Given the description of an element on the screen output the (x, y) to click on. 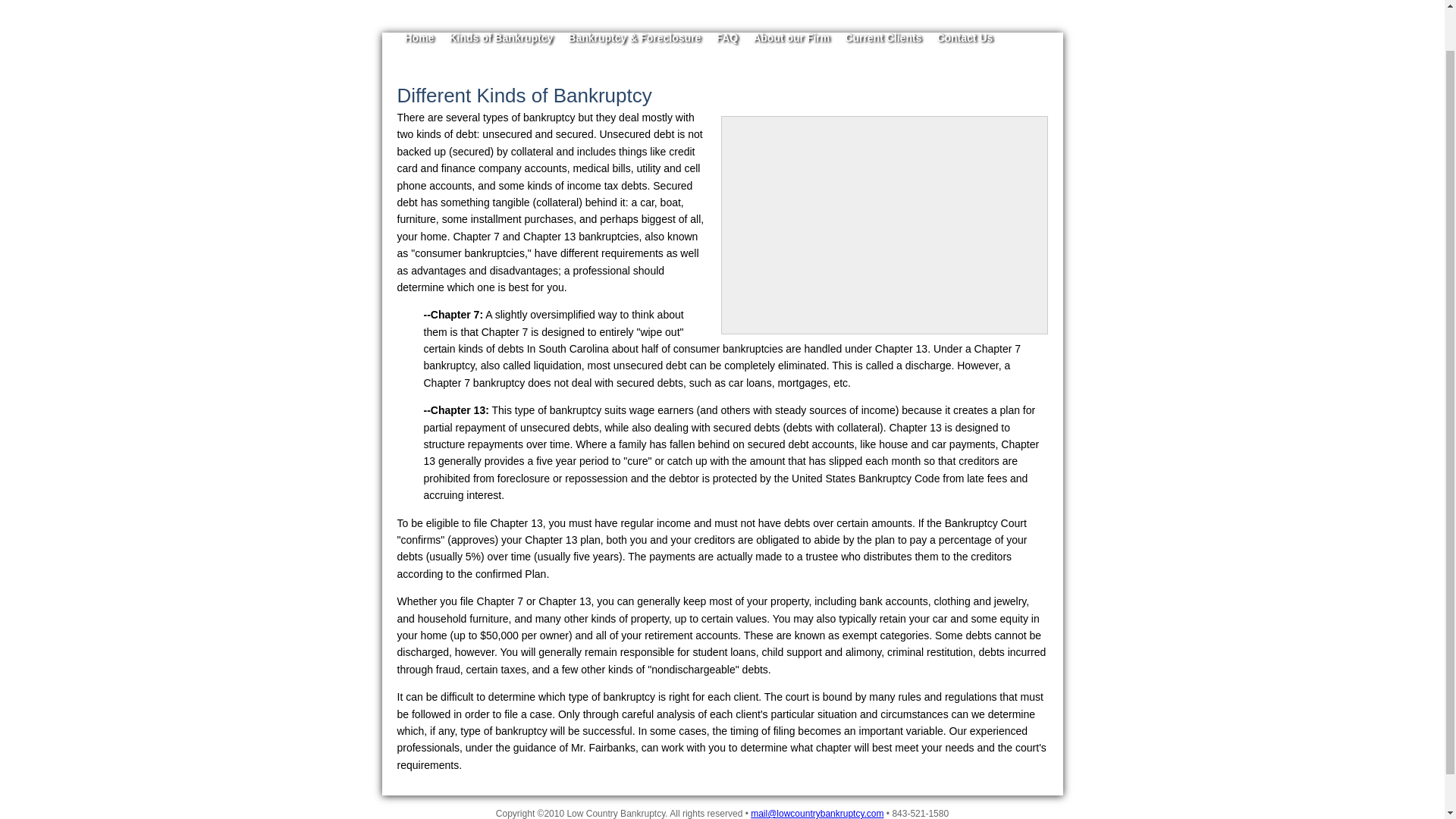
About our Firm (790, 37)
Current Clients (882, 37)
Kinds of Bankruptcy (500, 37)
Current Clients (882, 37)
Contact Us (964, 37)
Frequently Asked Questions (727, 37)
About our Firm (790, 37)
FAQ (727, 37)
Contact Us (964, 37)
Home (418, 37)
Bankruptcy and Foreclosure (633, 37)
